Given the description of an element on the screen output the (x, y) to click on. 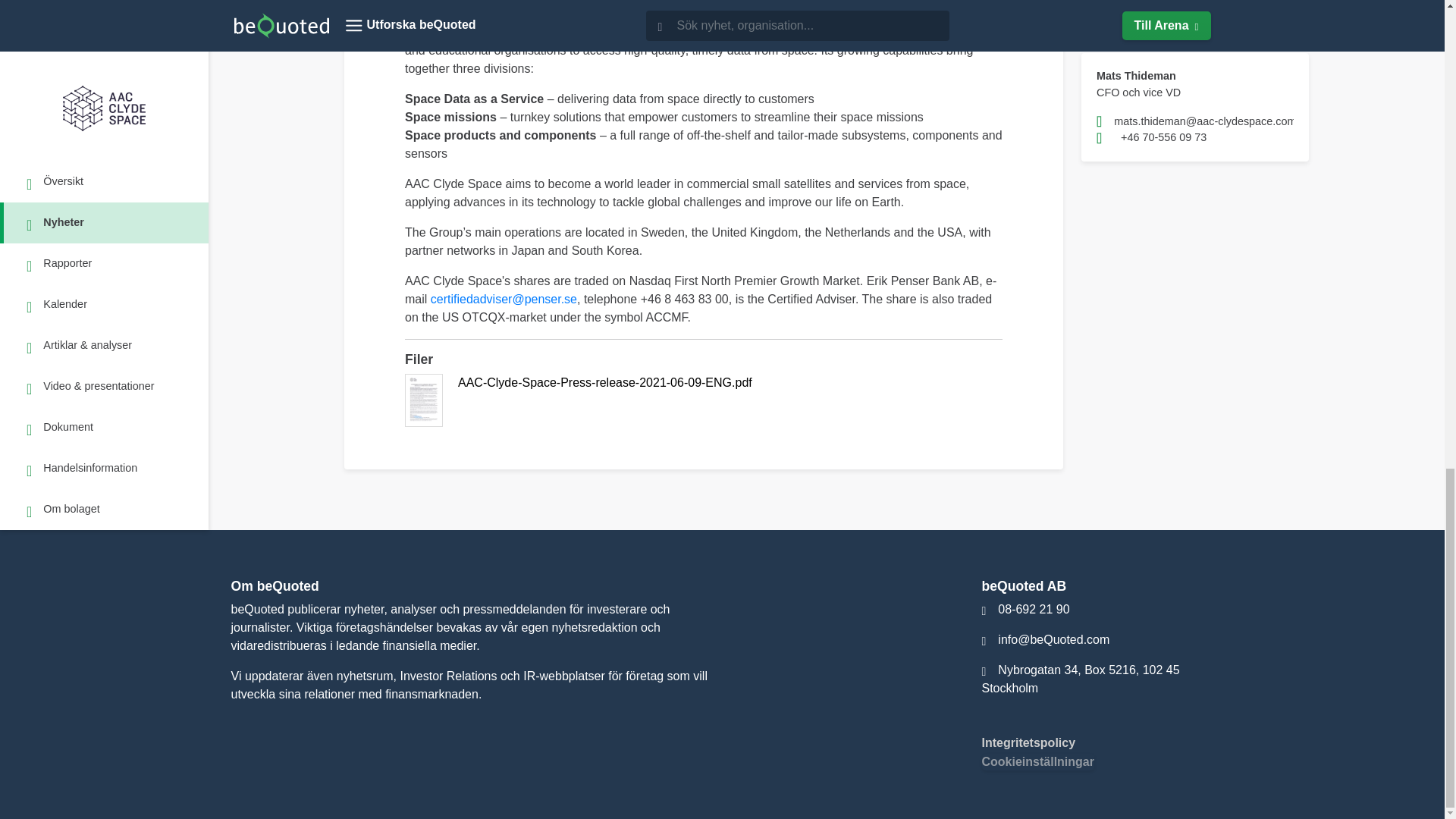
AAC-Clyde-Space-Press-release-2021-06-09-ENG.pdf (703, 399)
Integritetspolicy (1028, 742)
